Given the description of an element on the screen output the (x, y) to click on. 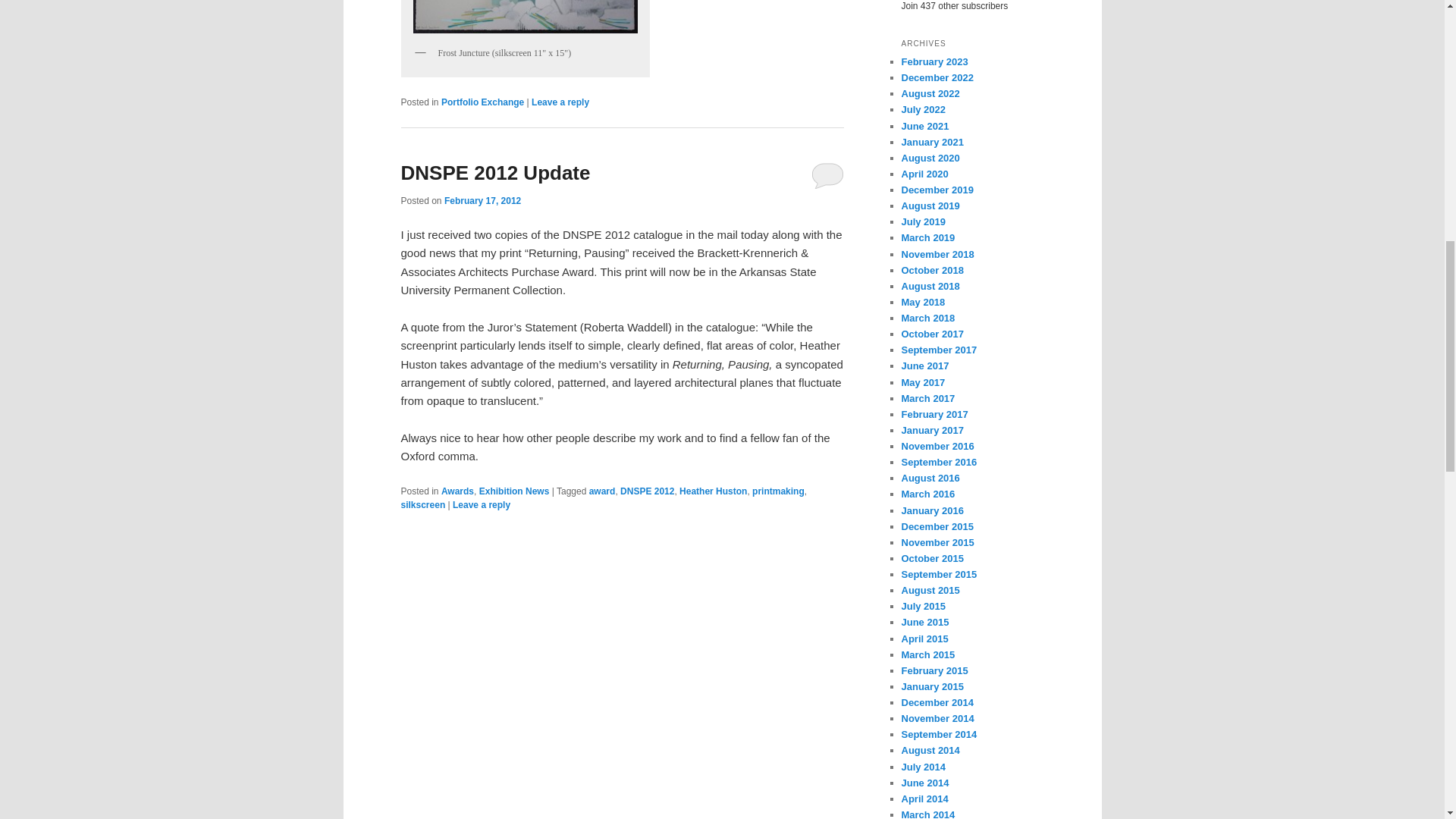
Exhibition News (514, 491)
award (602, 491)
silkscreen (422, 504)
Heather Huston (712, 491)
DNSPE 2012 Update (494, 172)
DNSPE 2012 (647, 491)
Leave a reply (481, 504)
Frost Juncture (525, 19)
Leave a reply (560, 102)
February 17, 2012 (482, 200)
